Given the description of an element on the screen output the (x, y) to click on. 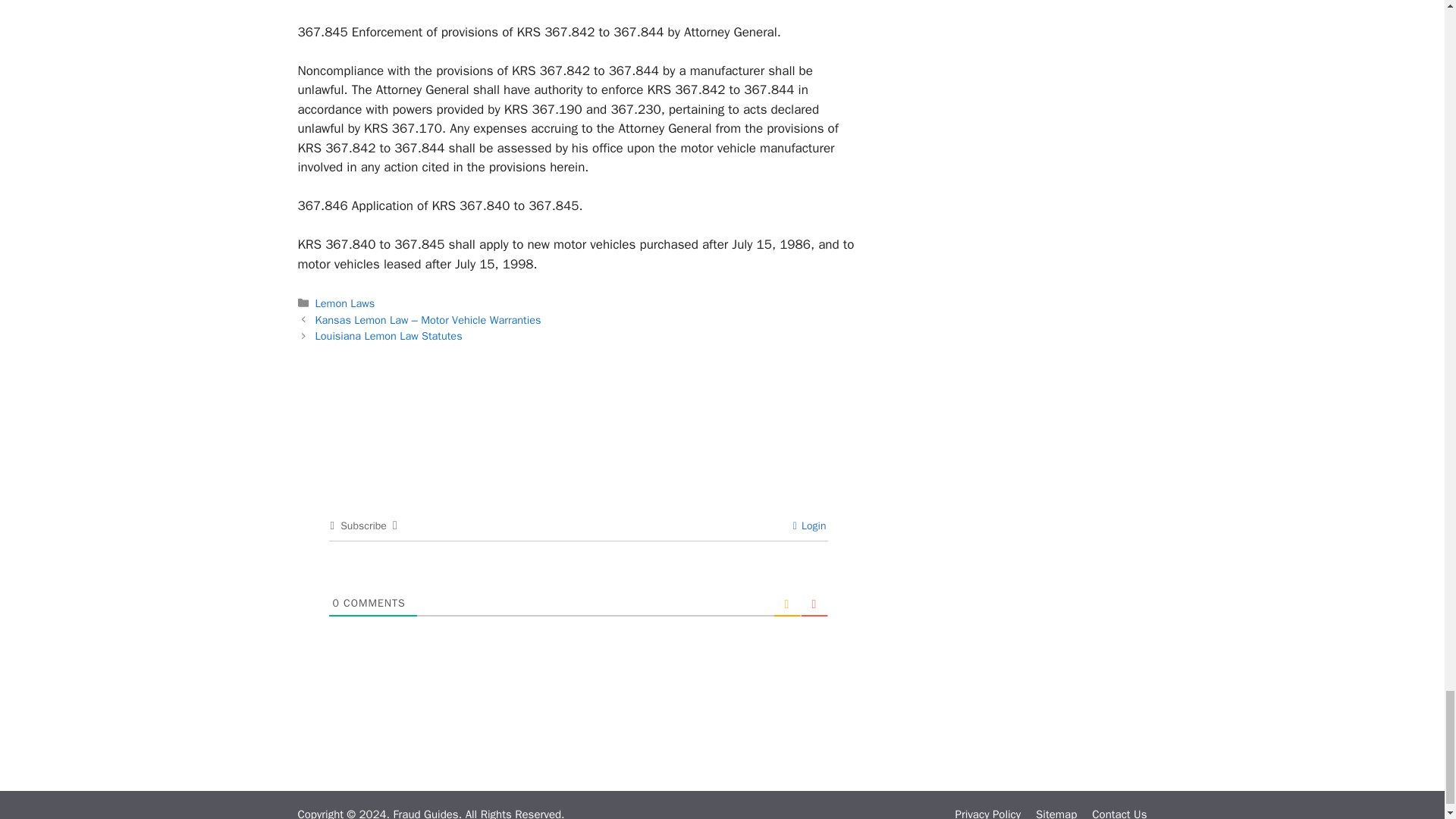
Louisiana Lemon Law Statutes (389, 336)
Lemon Laws (345, 303)
Login (810, 525)
